Given the description of an element on the screen output the (x, y) to click on. 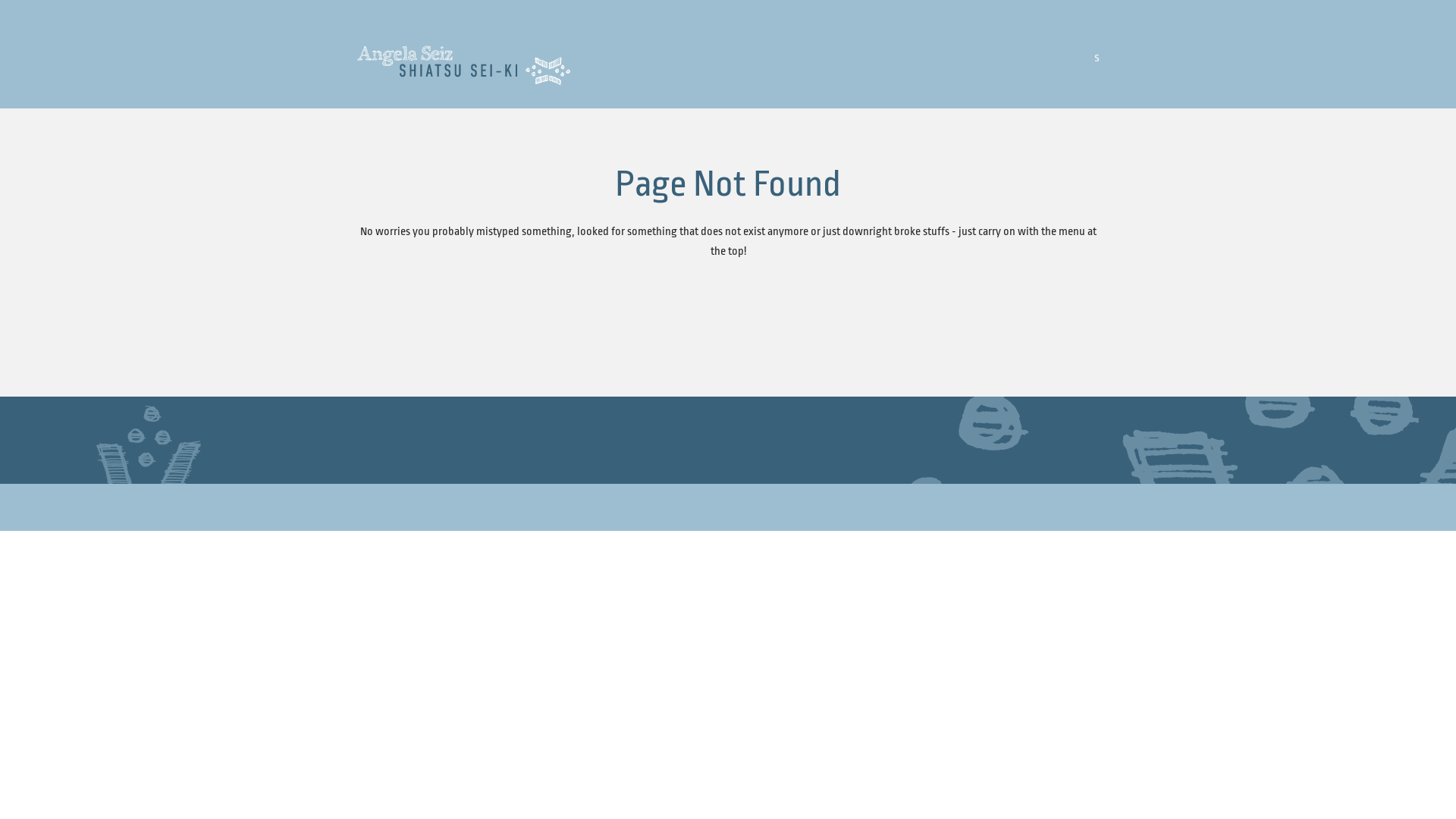
s Element type: text (1093, 57)
